Given the description of an element on the screen output the (x, y) to click on. 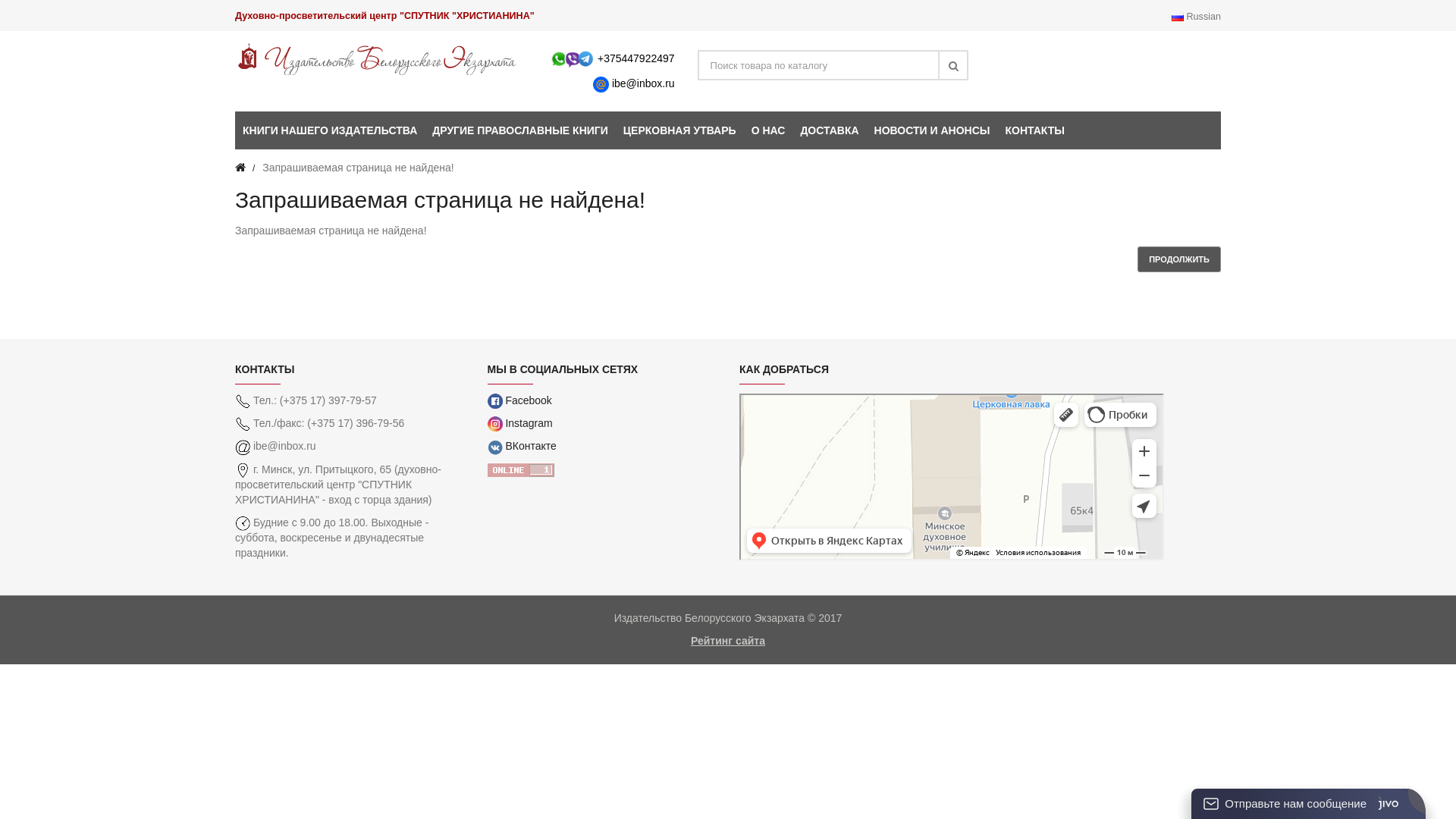
 Facebook Element type: text (518, 400)
Russian Element type: hover (1177, 16)
Russian Element type: text (1195, 16)
 Instagram Element type: text (519, 423)
